Given the description of an element on the screen output the (x, y) to click on. 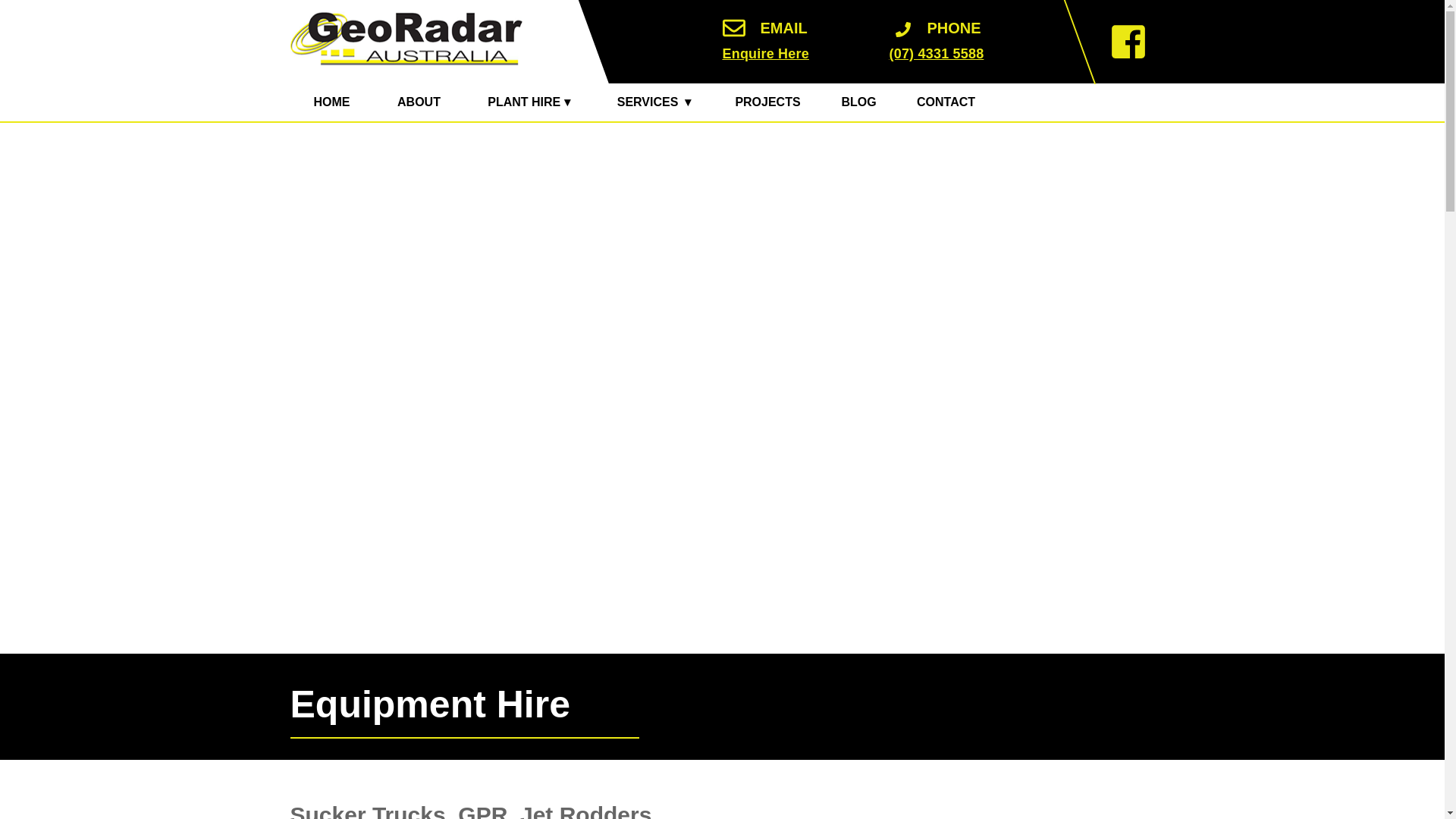
CONTACT (945, 102)
HOME (330, 102)
PROJECTS (767, 102)
Enquire Here (782, 54)
ABOUT (418, 102)
BLOG (858, 102)
